Given the description of an element on the screen output the (x, y) to click on. 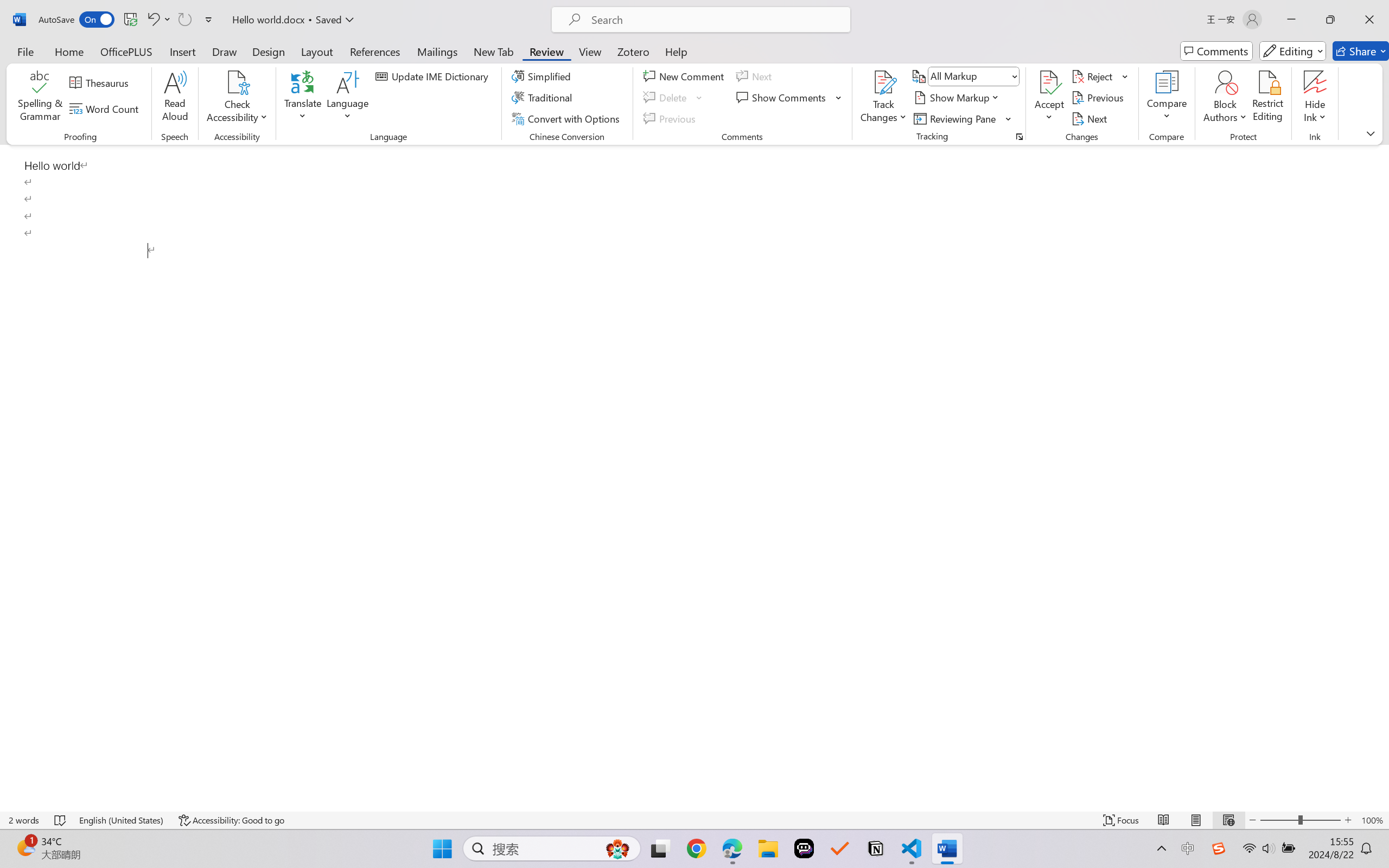
Audio (184, 62)
Slide Notes (703, 807)
Cameo (49, 51)
From Current Slide... (121, 62)
Title TextBox (671, 424)
Subtitle TextBox (671, 544)
